Given the description of an element on the screen output the (x, y) to click on. 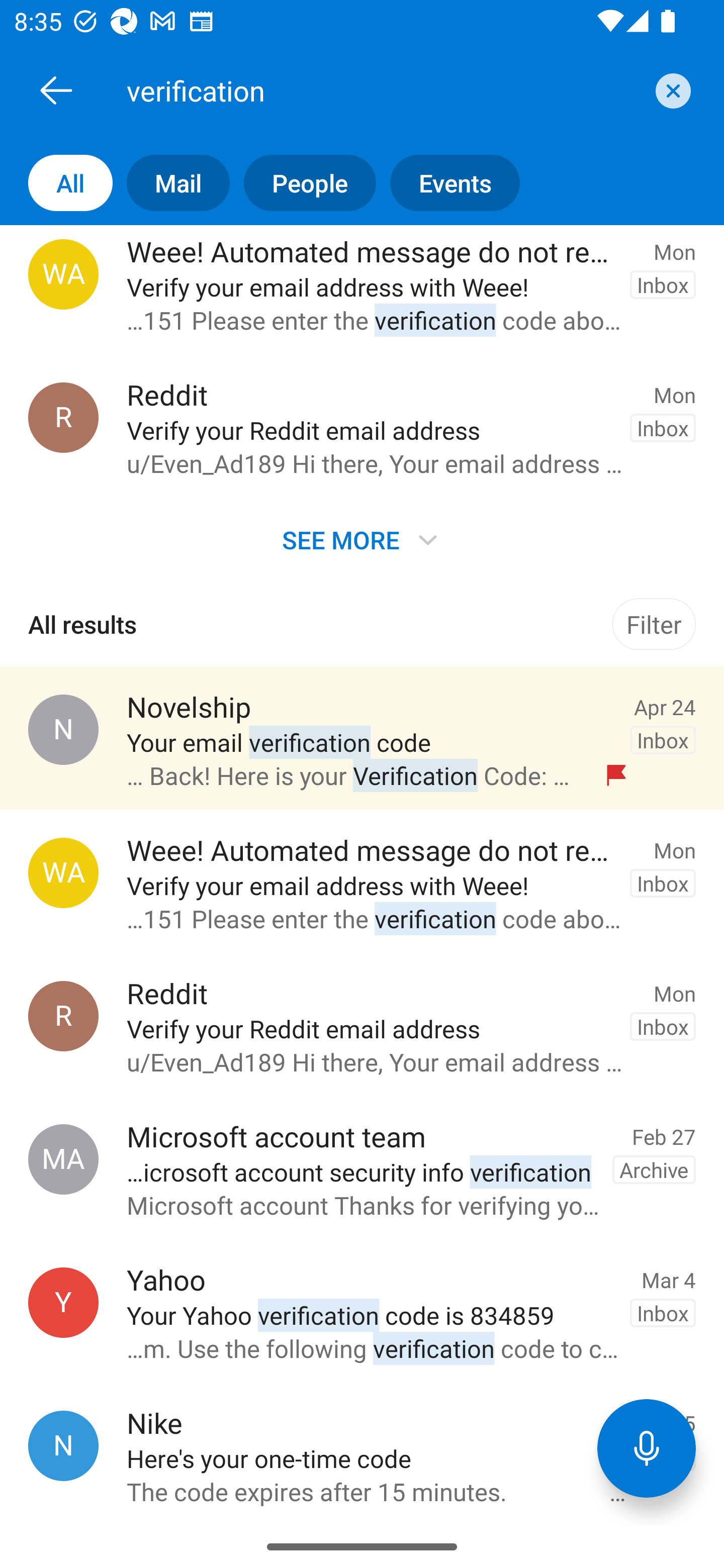
Back (55, 89)
verification (384, 89)
clear search (670, 90)
Mail (170, 183)
People (302, 183)
Events (447, 183)
SEE MORE See More (362, 539)
Filter (653, 623)
Voice Assistant (646, 1447)
